Given the description of an element on the screen output the (x, y) to click on. 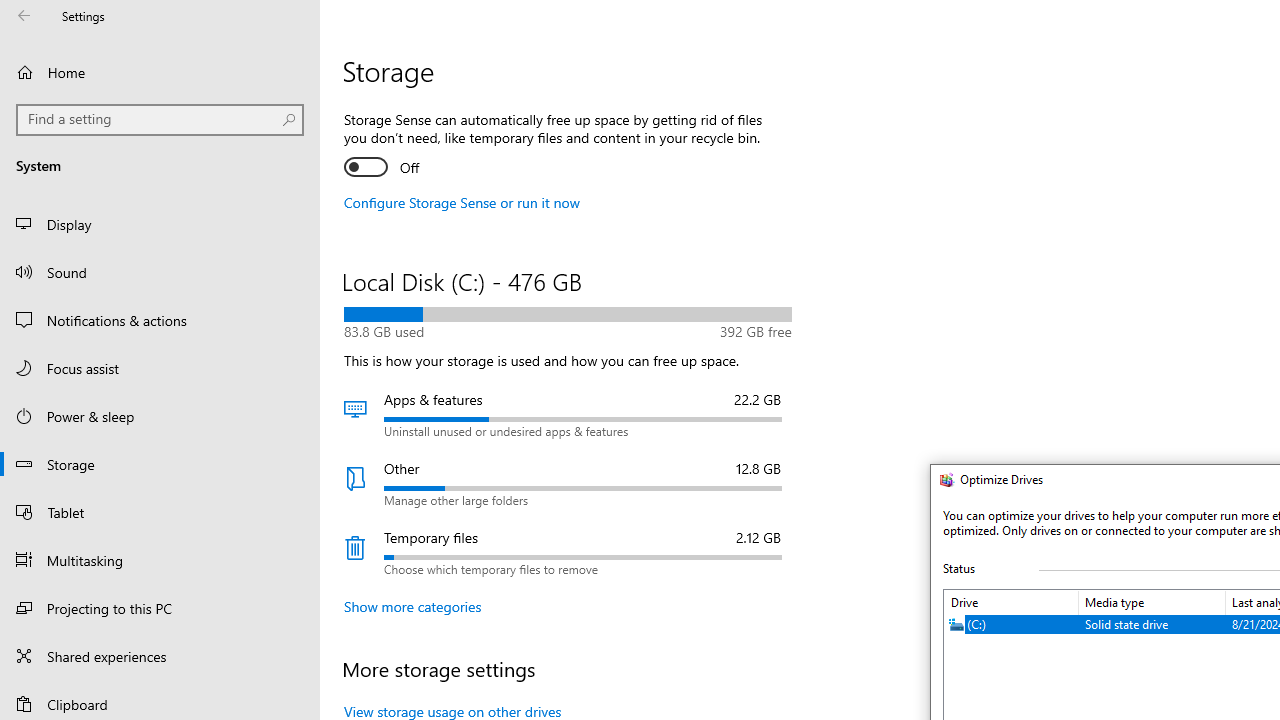
System (941, 482)
System (941, 482)
